Given the description of an element on the screen output the (x, y) to click on. 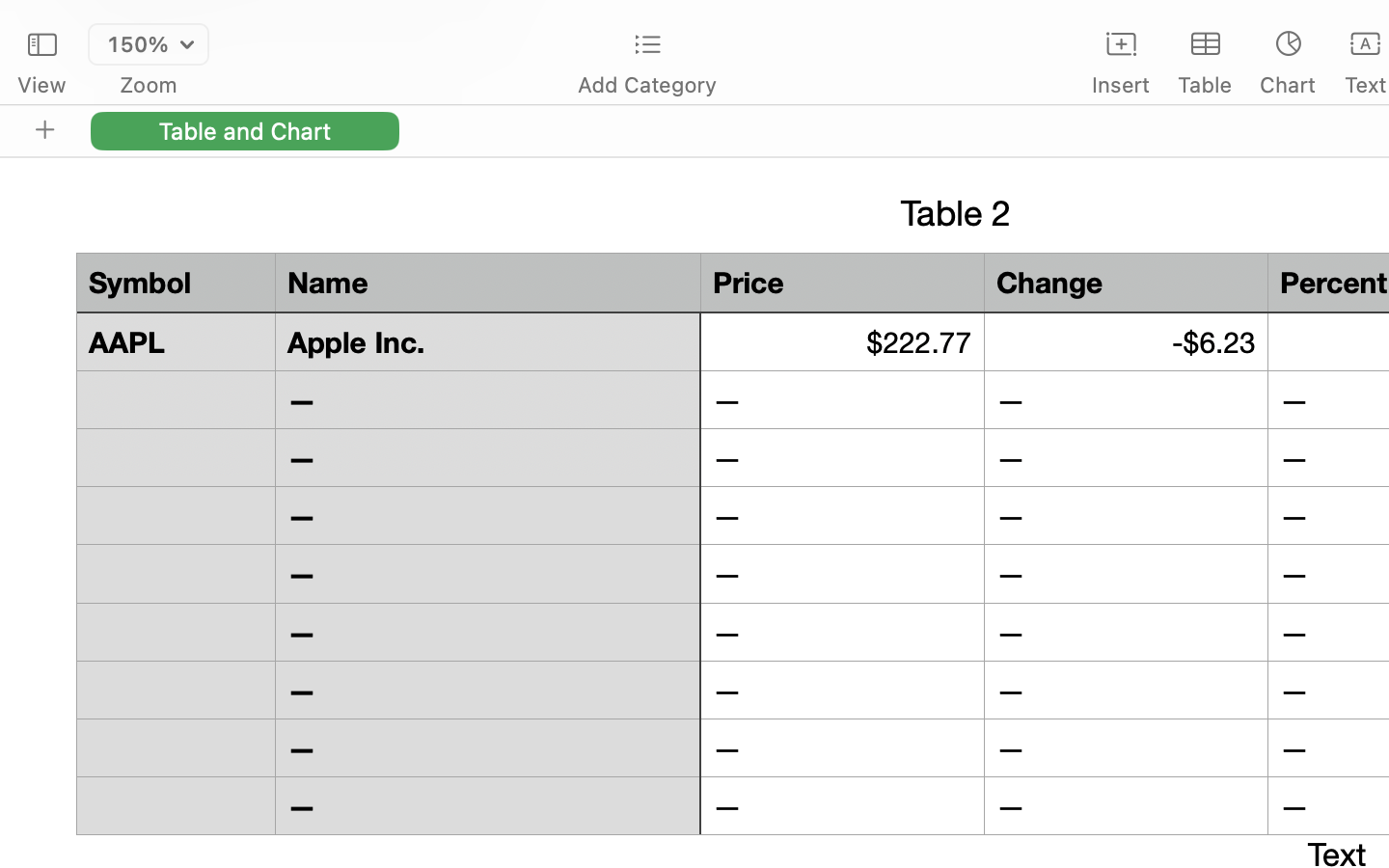
Untitled Element type: AXStaticText (1334, 24)
View Element type: AXStaticText (41, 84)
